Given the description of an element on the screen output the (x, y) to click on. 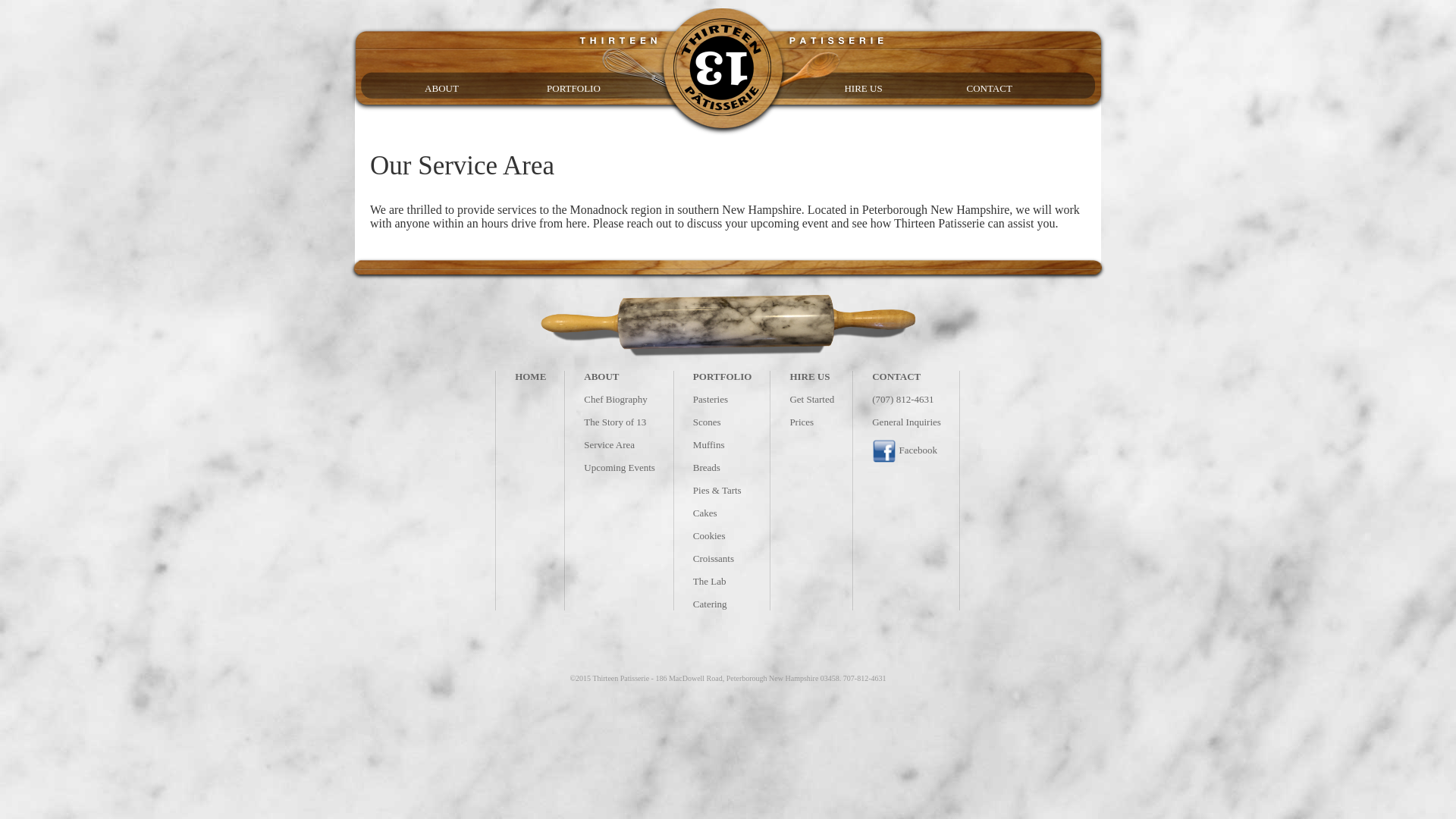
Service Area Element type: text (608, 444)
Breads Element type: text (706, 467)
HIRE US Element type: text (900, 88)
Get Started Element type: text (811, 398)
ABOUT Element type: text (600, 376)
The Story of 13 Element type: text (614, 421)
The Lab Element type: text (709, 580)
Croissants Element type: text (713, 558)
Cookies Element type: text (709, 535)
CONTACT Element type: text (896, 376)
PORTFOLIO Element type: text (603, 88)
Facebook Element type: text (904, 449)
Pasteries Element type: text (710, 398)
Upcoming Events Element type: text (619, 467)
Cakes Element type: text (705, 512)
Muffins Element type: text (708, 444)
HOME Element type: text (530, 376)
Prices Element type: text (801, 421)
HIRE US Element type: text (809, 376)
Catering Element type: text (710, 603)
General Inquiries Element type: text (906, 421)
ABOUT Element type: text (481, 88)
(707) 812-4631 Element type: text (902, 398)
Scones Element type: text (707, 421)
Pies & Tarts Element type: text (717, 489)
CONTACT Element type: text (1022, 88)
Chef Biography Element type: text (614, 398)
PORTFOLIO Element type: text (722, 376)
